Given the description of an element on the screen output the (x, y) to click on. 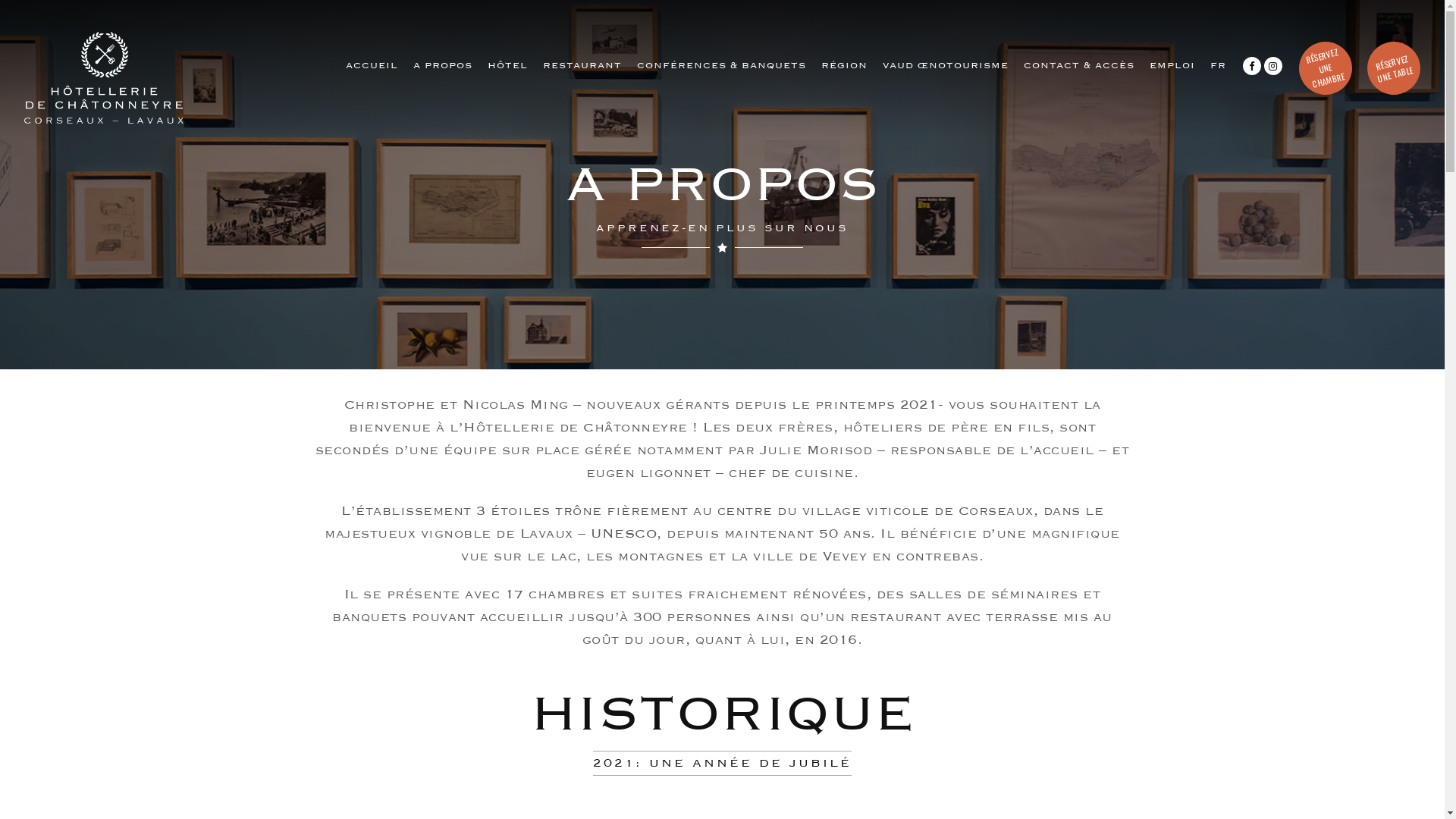
EMPLOI Element type: text (1172, 65)
ACCUEIL Element type: text (371, 65)
A PROPOS Element type: text (442, 65)
RESTAURANT Element type: text (581, 65)
FR Element type: text (1218, 65)
